Given the description of an element on the screen output the (x, y) to click on. 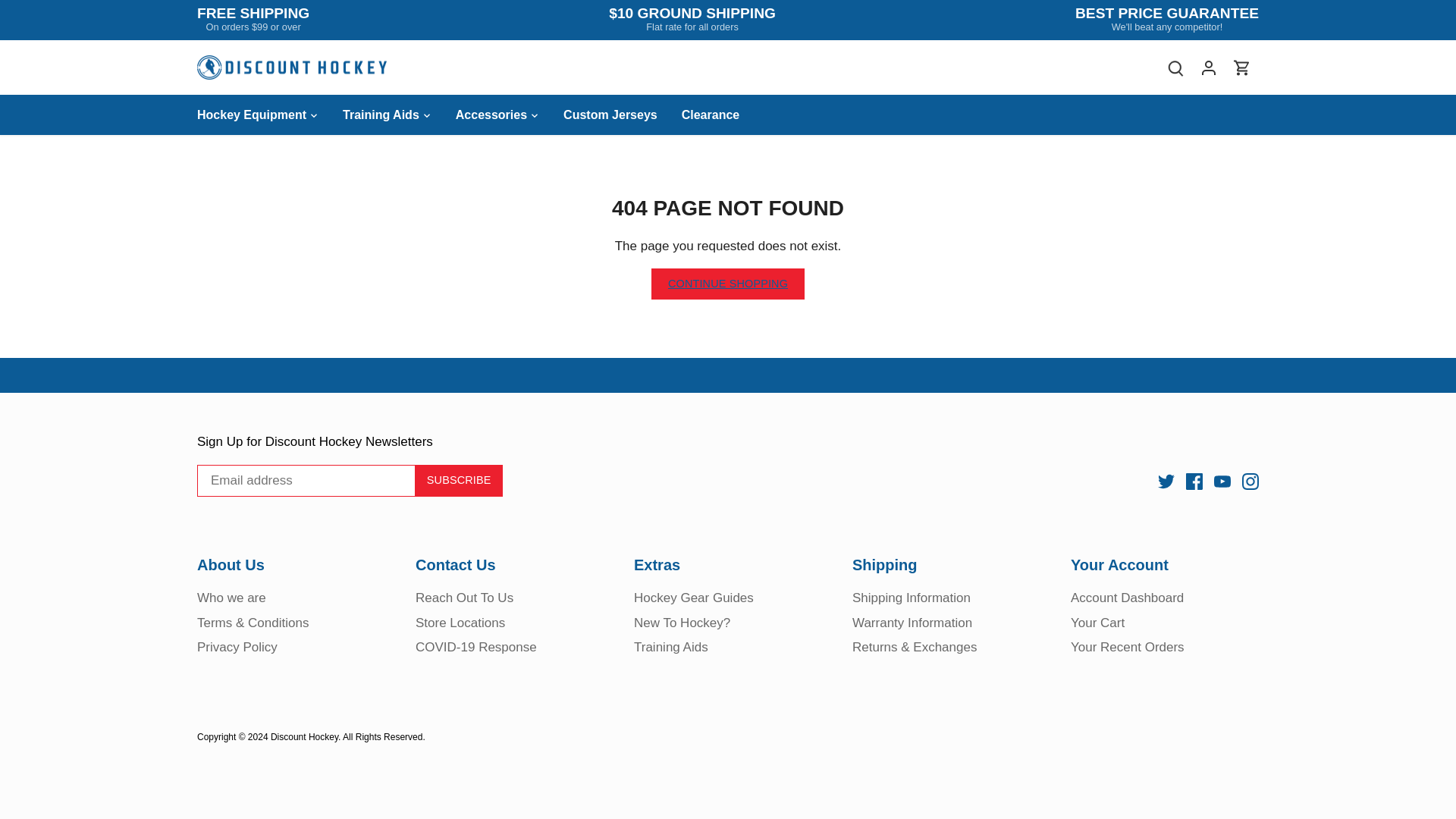
Hockey Equipment (257, 115)
Go to cart (1241, 67)
Twitter (1165, 481)
Facebook (1194, 481)
Youtube (1222, 481)
Subscribe (458, 480)
Instagram (1250, 481)
